Given the description of an element on the screen output the (x, y) to click on. 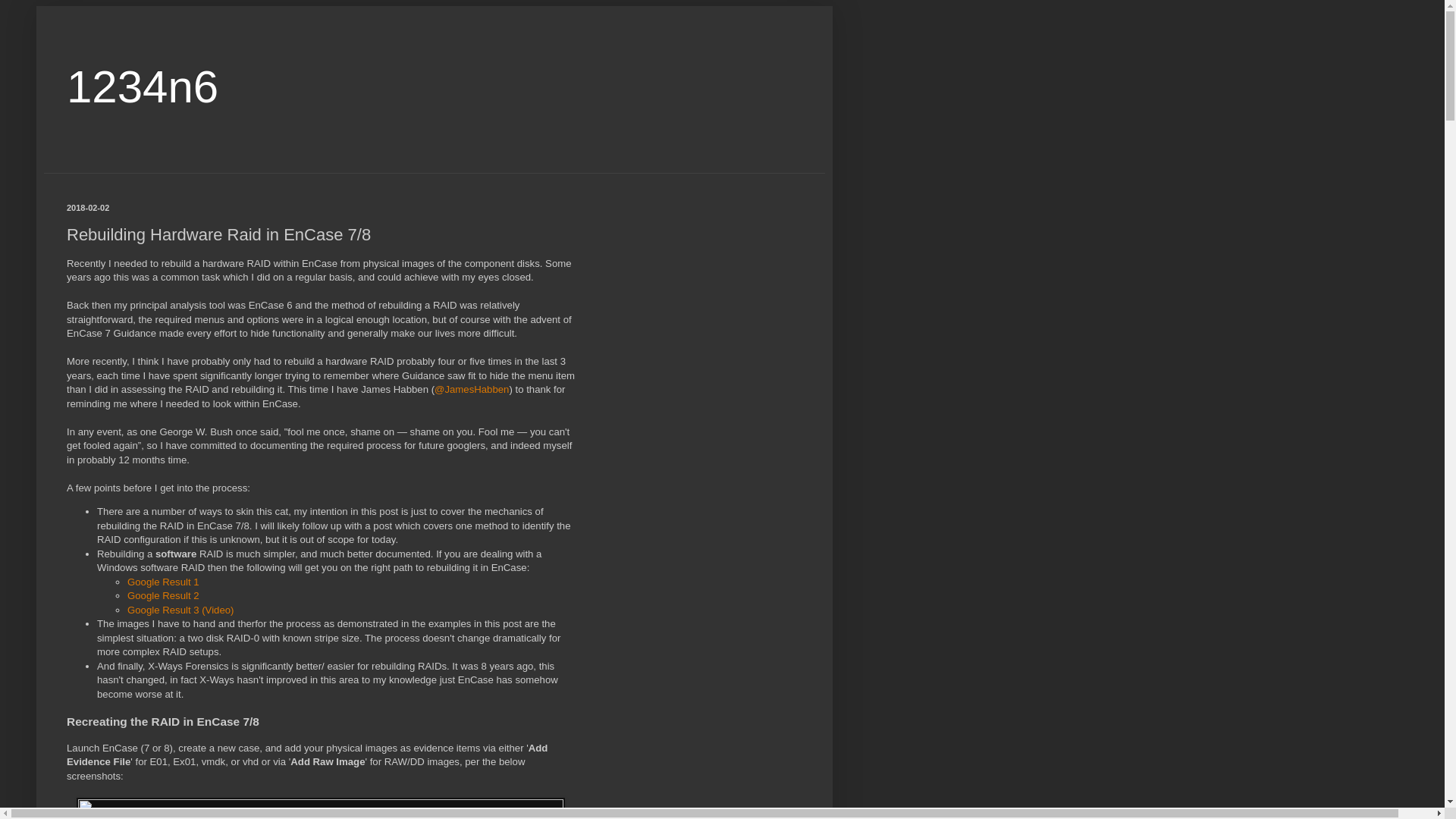
Google Result 1 Element type: text (163, 581)
@JamesHabben Element type: text (471, 389)
Google Result 3 (Video) Element type: text (180, 609)
1234n6 Element type: text (142, 86)
Google Result 2 Element type: text (163, 595)
